Given the description of an element on the screen output the (x, y) to click on. 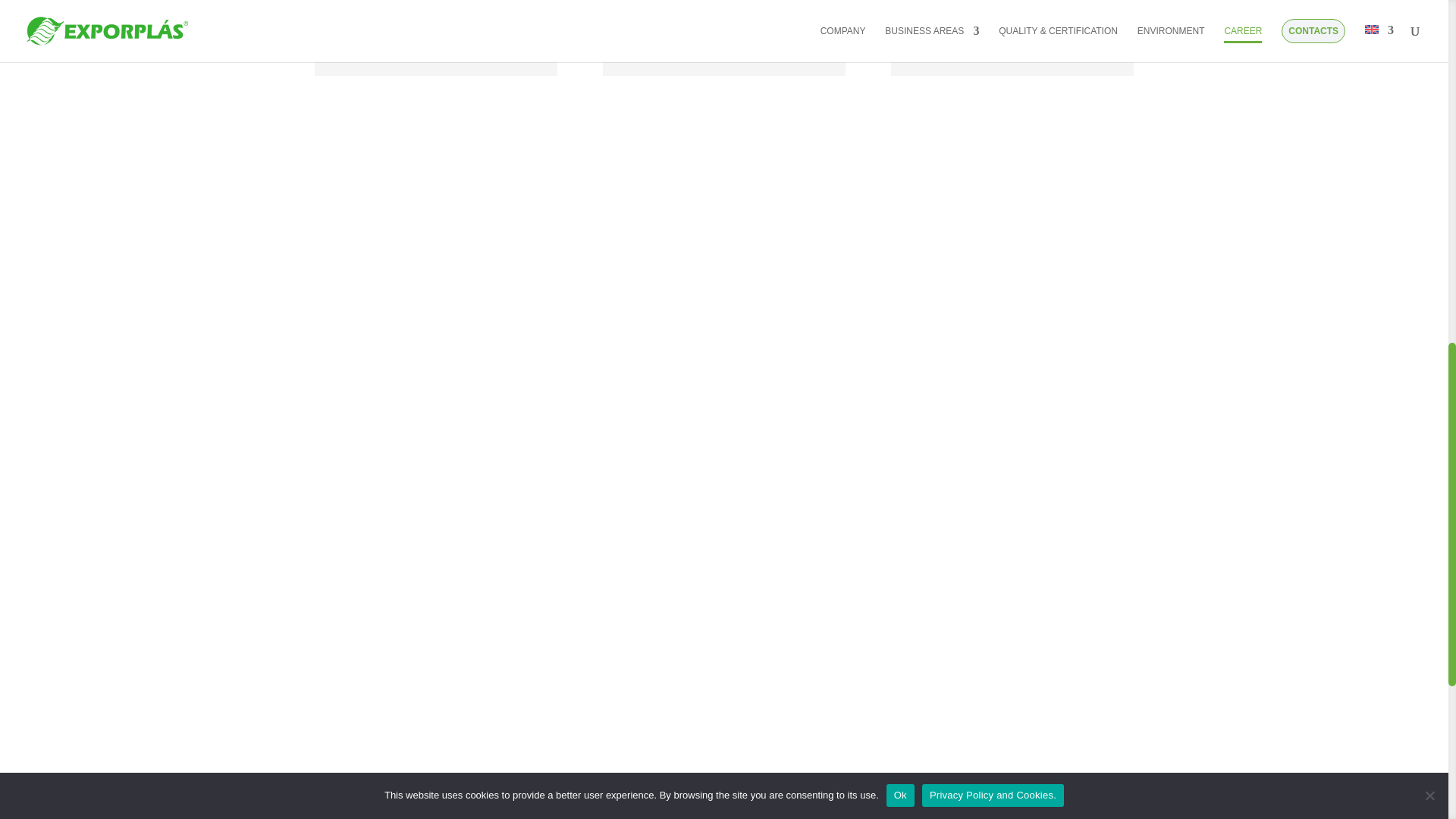
SUBMIT APPLICATION (372, 694)
